Given the description of an element on the screen output the (x, y) to click on. 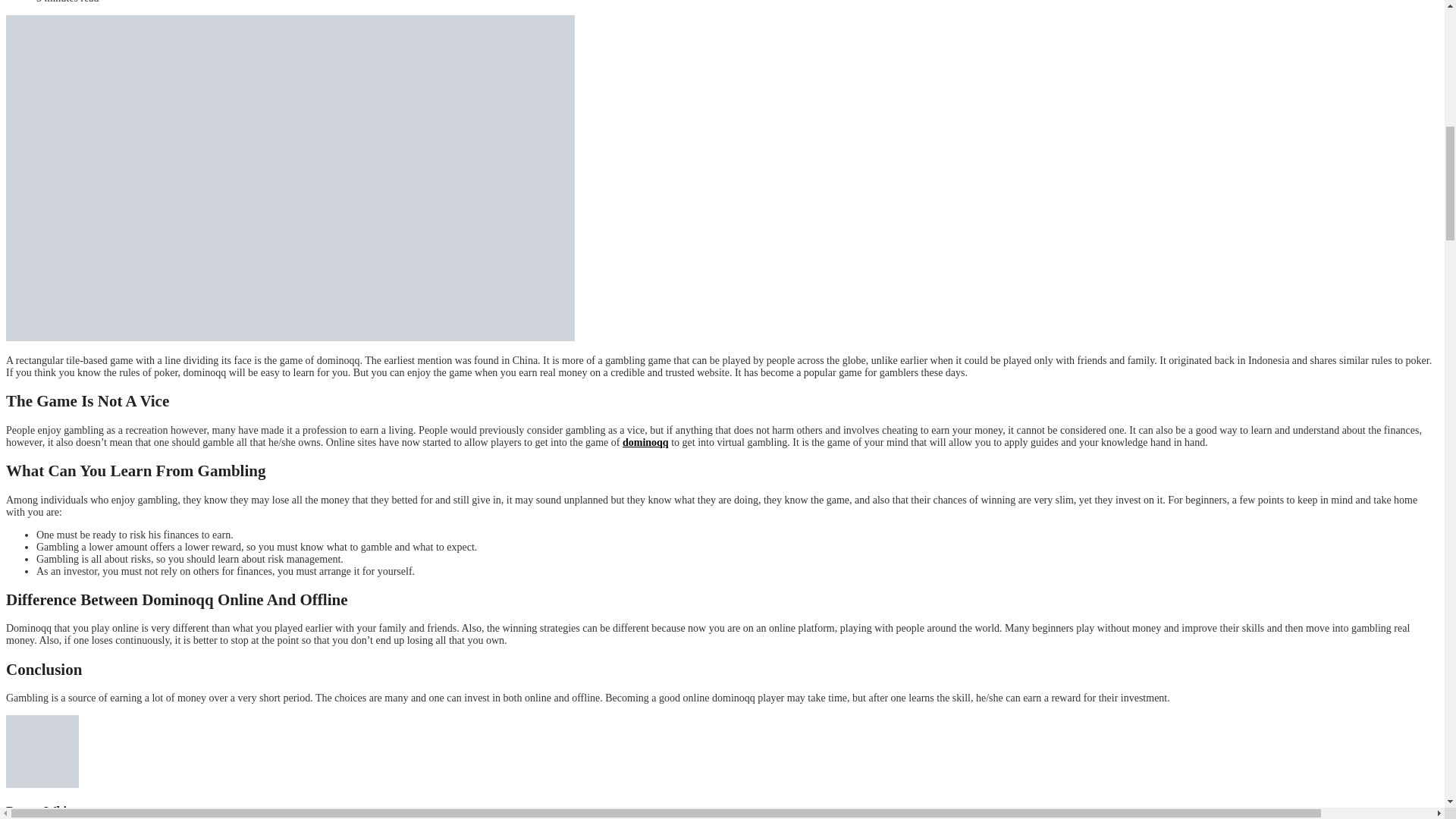
dominoqq (645, 441)
